Given the description of an element on the screen output the (x, y) to click on. 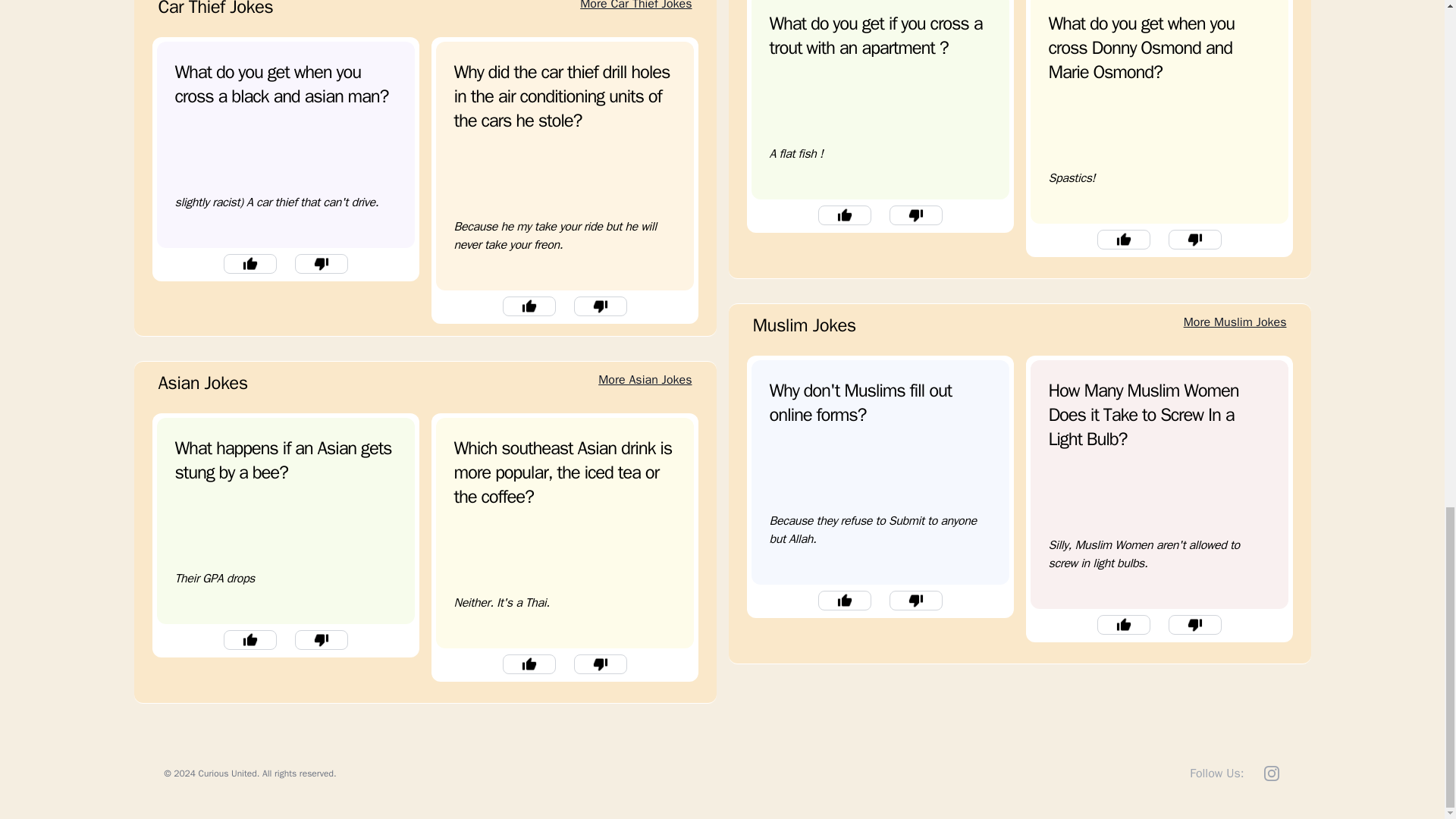
Car Thief Jokes (212, 12)
More Car Thief Jokes (638, 6)
